Given the description of an element on the screen output the (x, y) to click on. 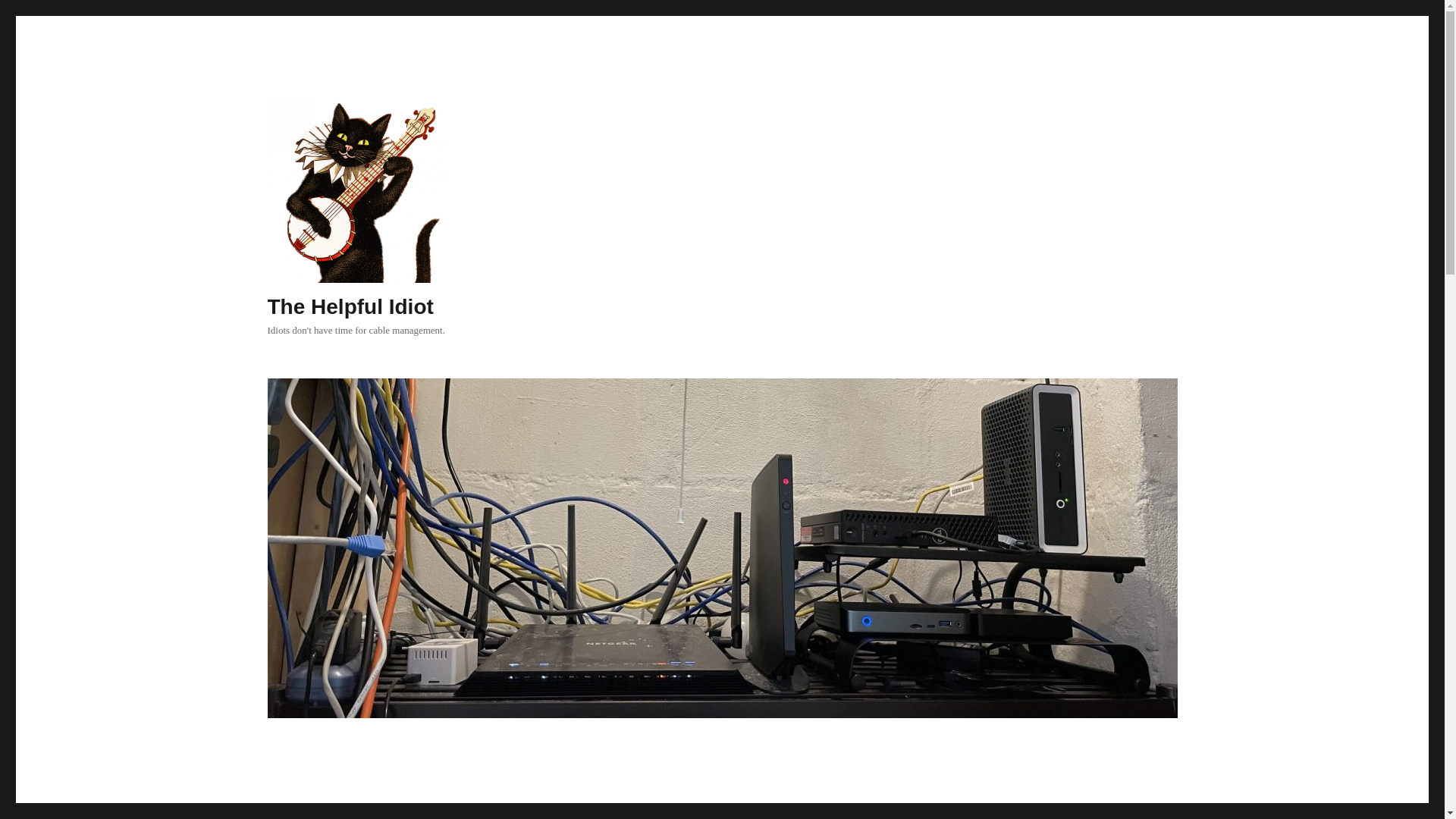
The Helpful Idiot (349, 306)
